Given the description of an element on the screen output the (x, y) to click on. 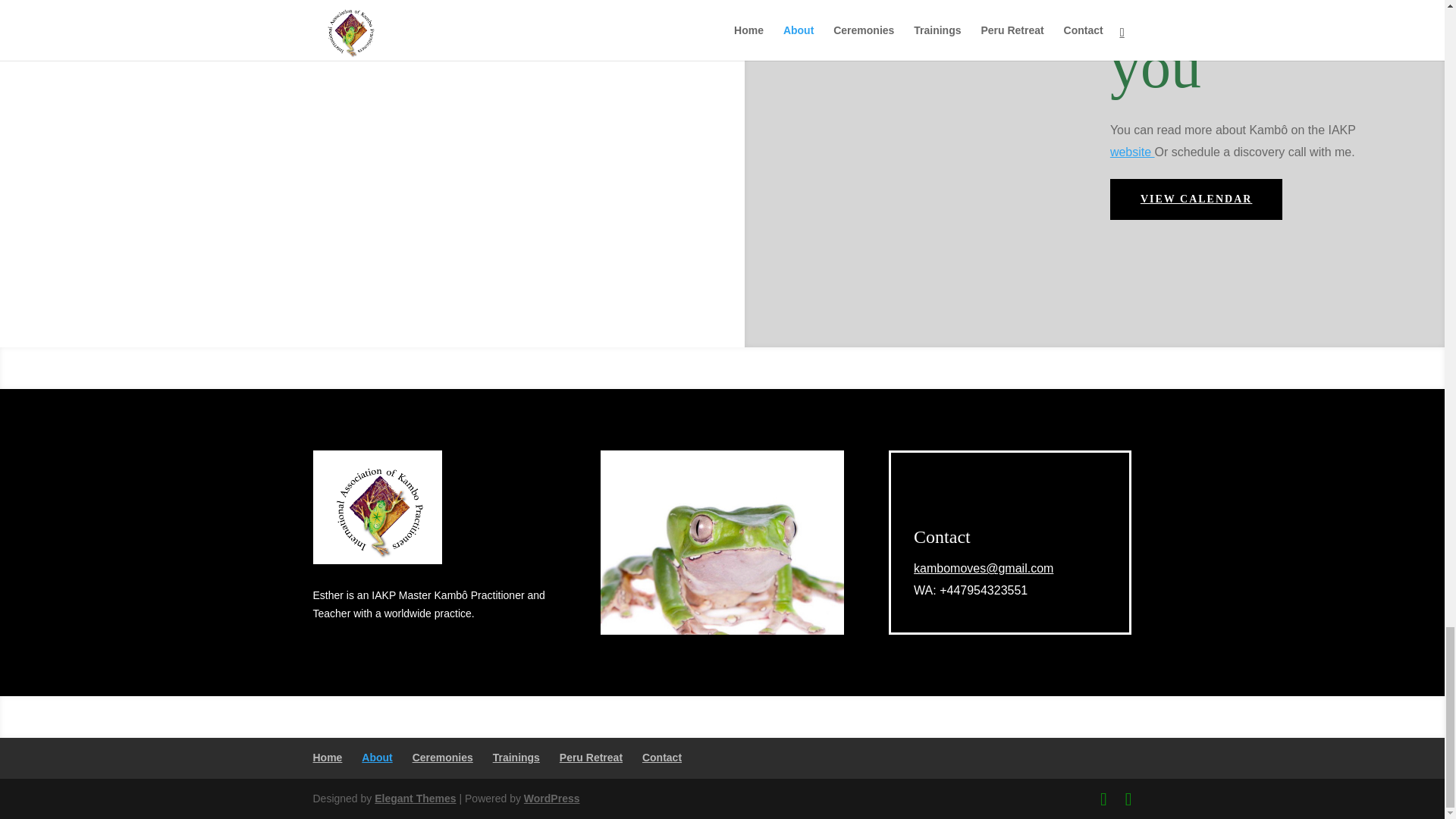
Peru Retreat (591, 757)
website (1131, 151)
PNG image - Kambo Holistic (377, 507)
VIEW CALENDAR (1195, 199)
Contact (661, 757)
Ceremonies (442, 757)
Trainings (516, 757)
About (376, 757)
Elegant Themes (414, 798)
Contact (942, 537)
WordPress (551, 798)
IAKP (1131, 151)
Premium WordPress Themes (414, 798)
Home (327, 757)
